Given the description of an element on the screen output the (x, y) to click on. 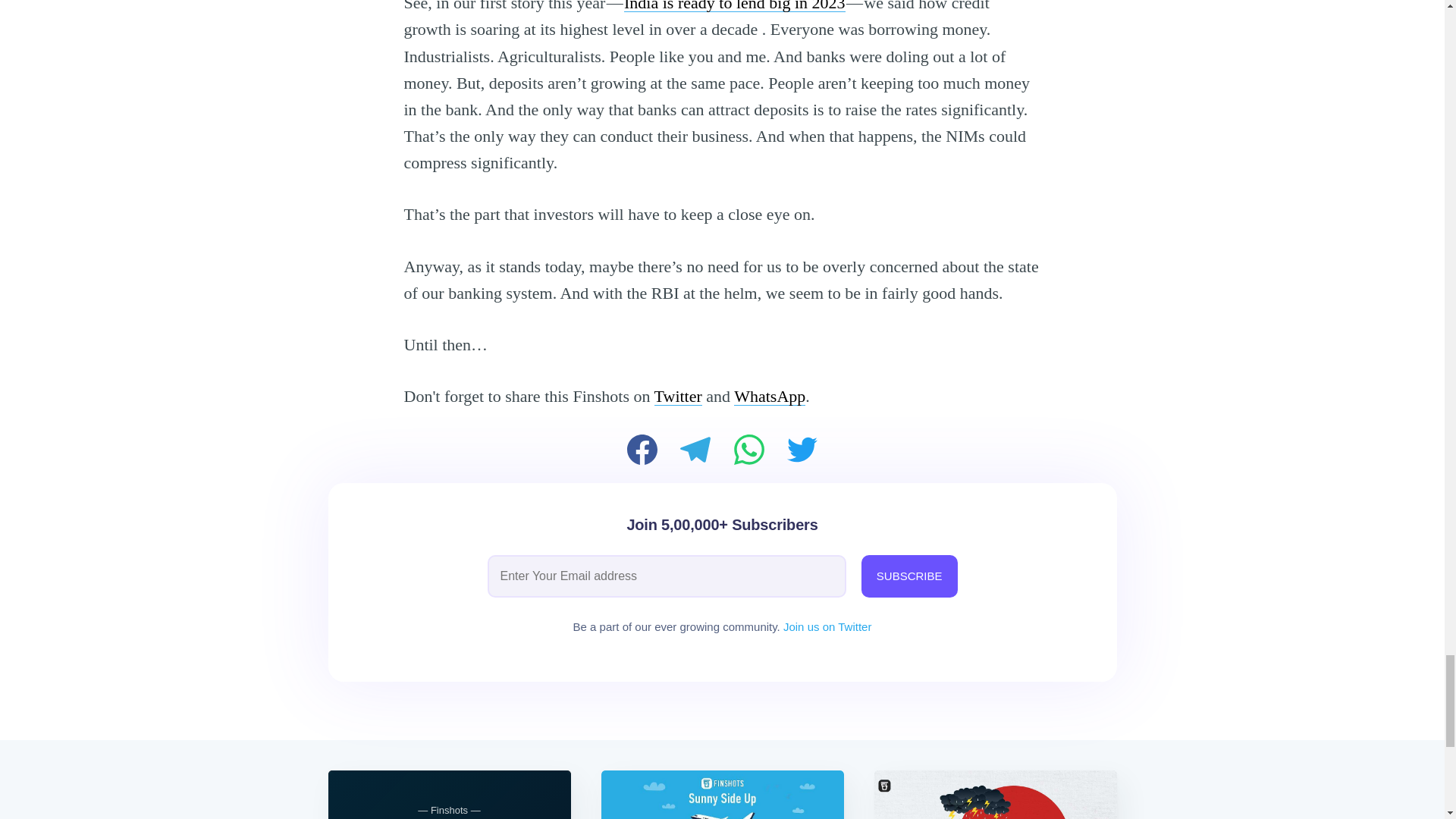
India is ready to lend big in 2023 (734, 6)
Twitter (677, 395)
SUBSCRIBE (909, 576)
WhatsApp (769, 395)
Join us on Twitter (826, 626)
